Given the description of an element on the screen output the (x, y) to click on. 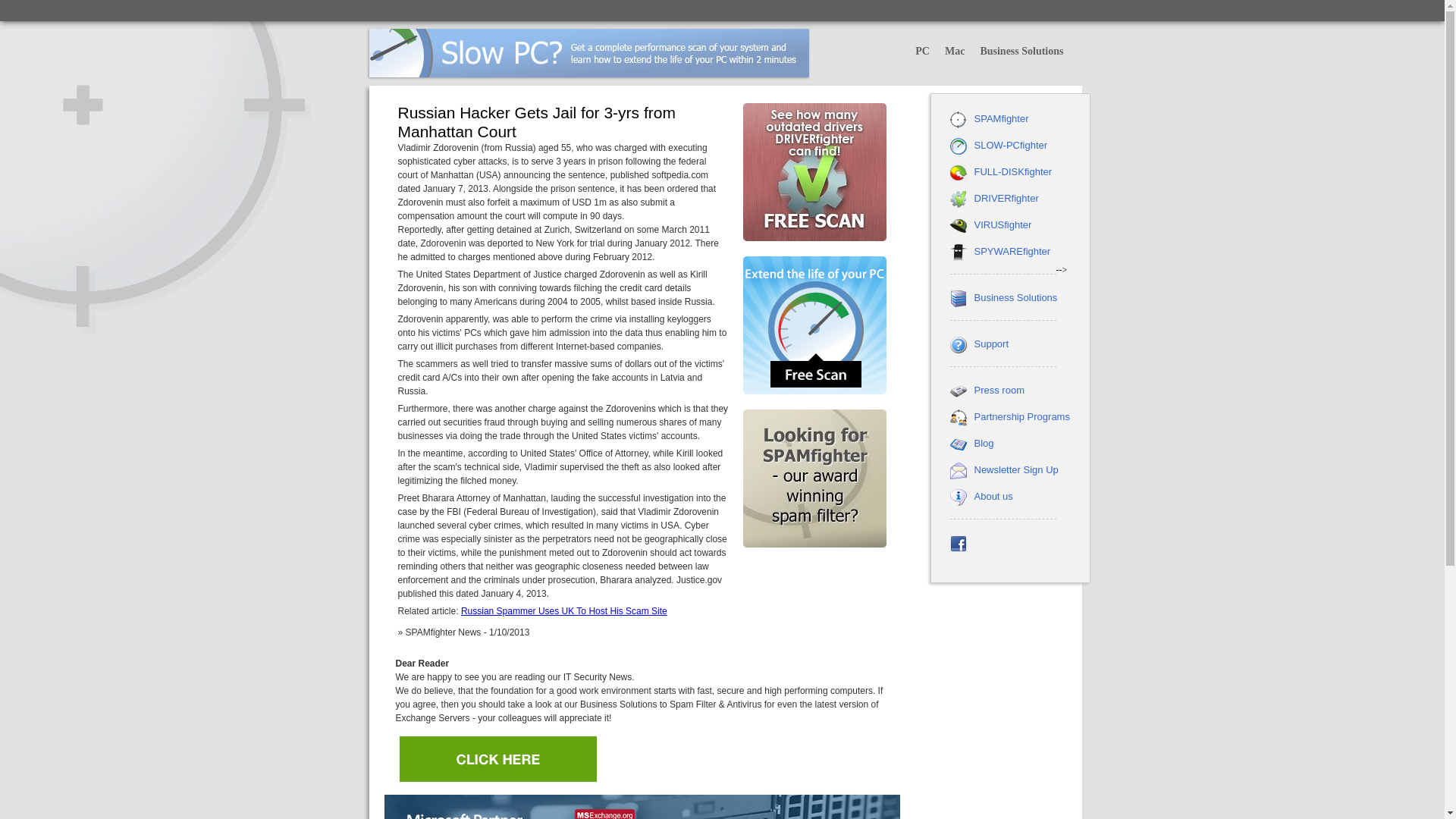
Business Solutions (1015, 297)
Business Solutions (1021, 51)
About us (992, 496)
Partnership Programs (1021, 416)
Blog (983, 442)
Newsletter Sign Up (1016, 469)
SLOW-PCfighter (1010, 144)
Support (991, 343)
SPYWAREfighter (1011, 251)
VIRUSfighter (1002, 224)
DRIVERfighter (1006, 197)
PC (922, 51)
Mac (954, 51)
FULL-DISKfighter (1012, 171)
Russian Spammer Uses UK To Host His Scam Site (563, 611)
